Given the description of an element on the screen output the (x, y) to click on. 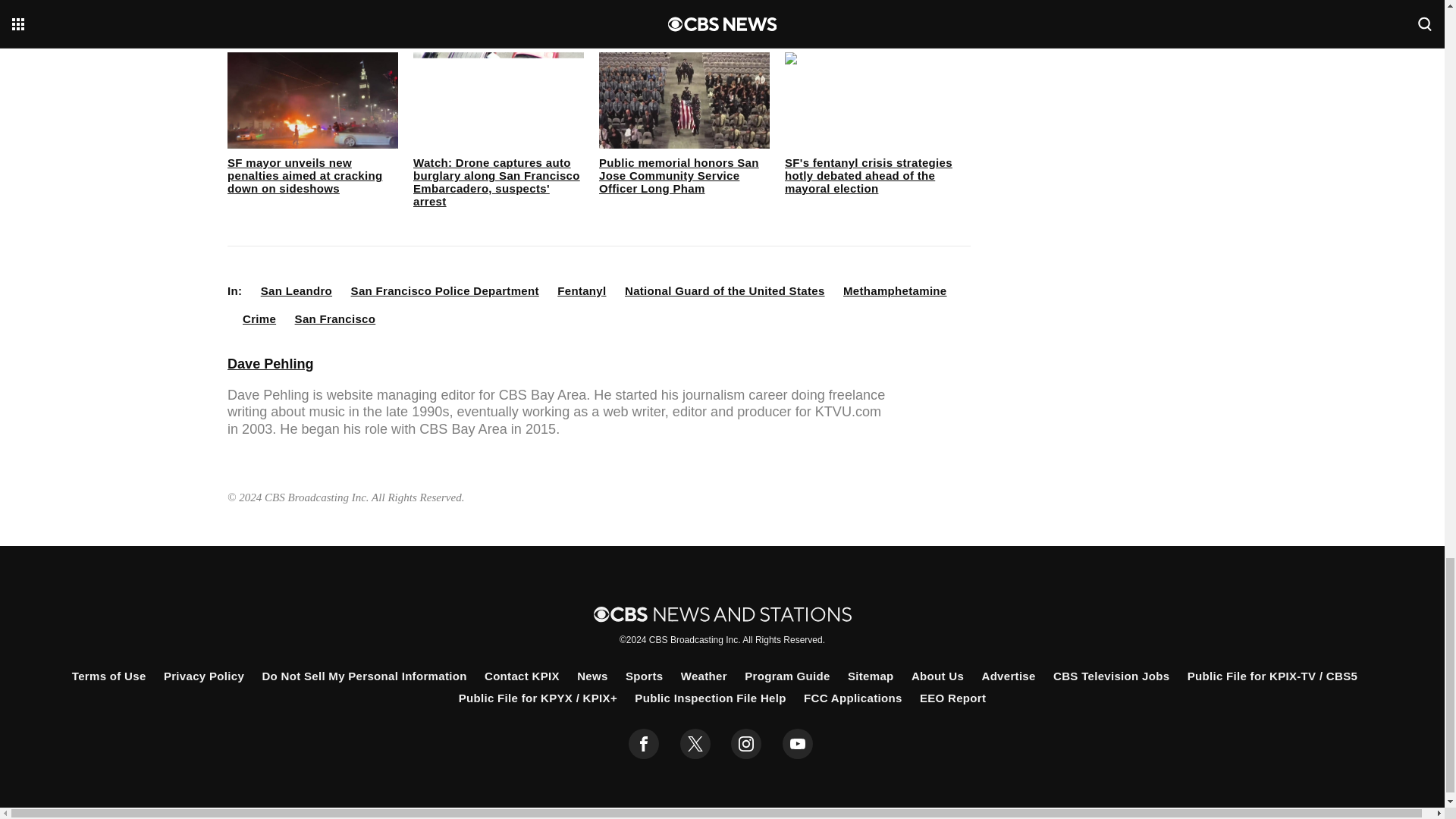
youtube (797, 743)
facebook (643, 743)
twitter (694, 743)
instagram (745, 743)
